Given the description of an element on the screen output the (x, y) to click on. 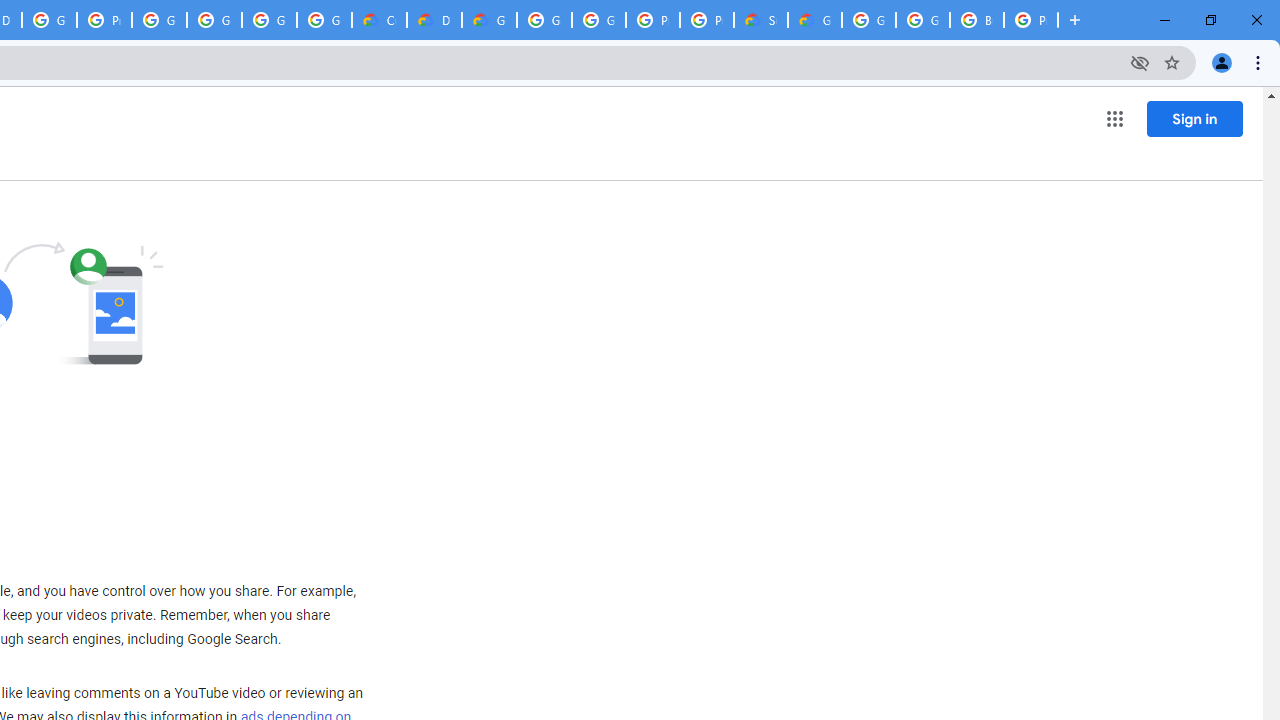
Support Hub | Google Cloud (760, 20)
Gemini for Business and Developers | Google Cloud (489, 20)
Customer Care | Google Cloud (379, 20)
Google Cloud Platform (868, 20)
Google Workspace - Specific Terms (268, 20)
Google Cloud Platform (922, 20)
